Given the description of an element on the screen output the (x, y) to click on. 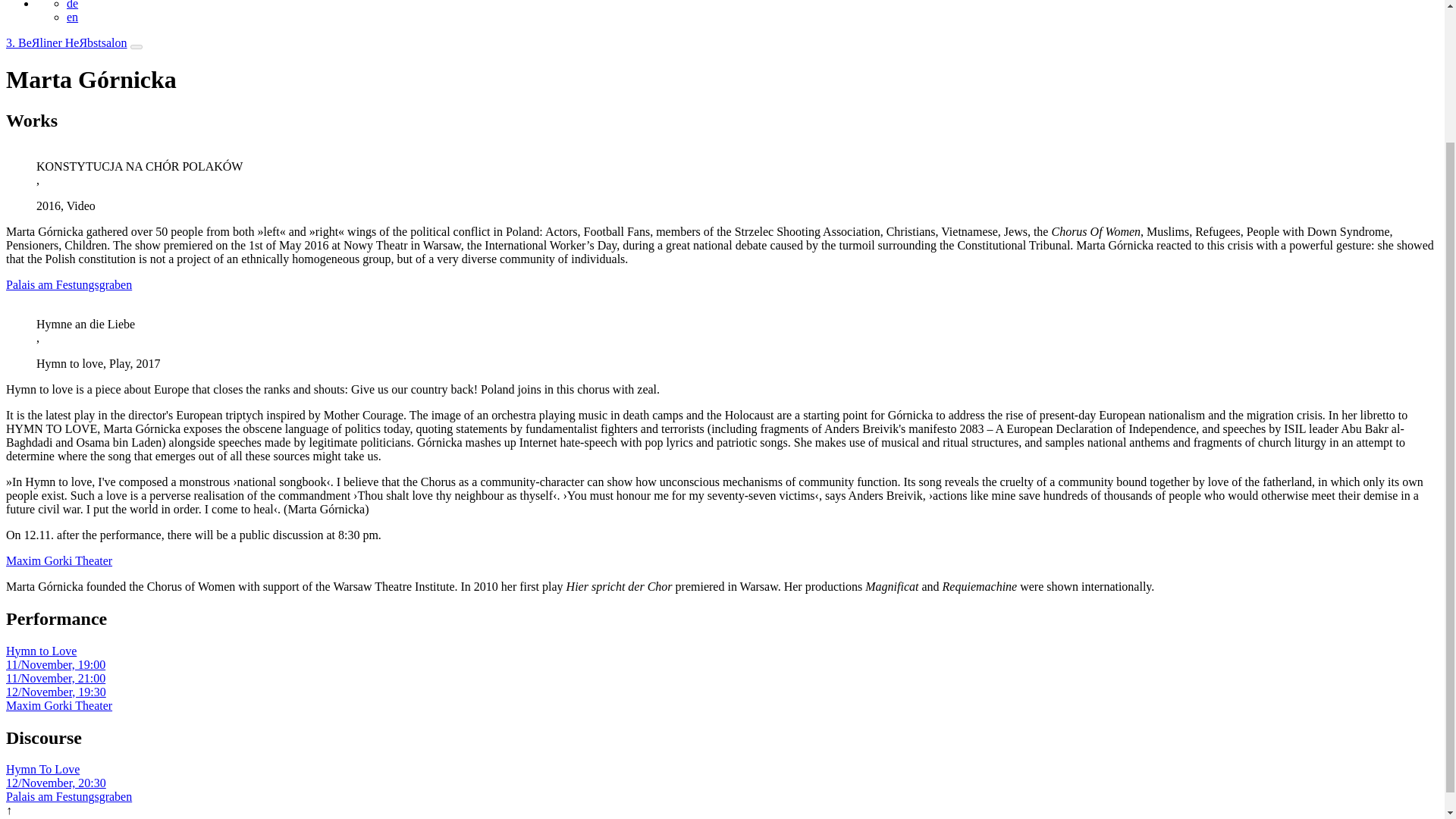
Palais am Festungsgraben (68, 796)
de (72, 4)
Palais am Festungsgraben (68, 284)
Maxim Gorki Theater (58, 560)
Maxim Gorki Theater (58, 705)
